Given the description of an element on the screen output the (x, y) to click on. 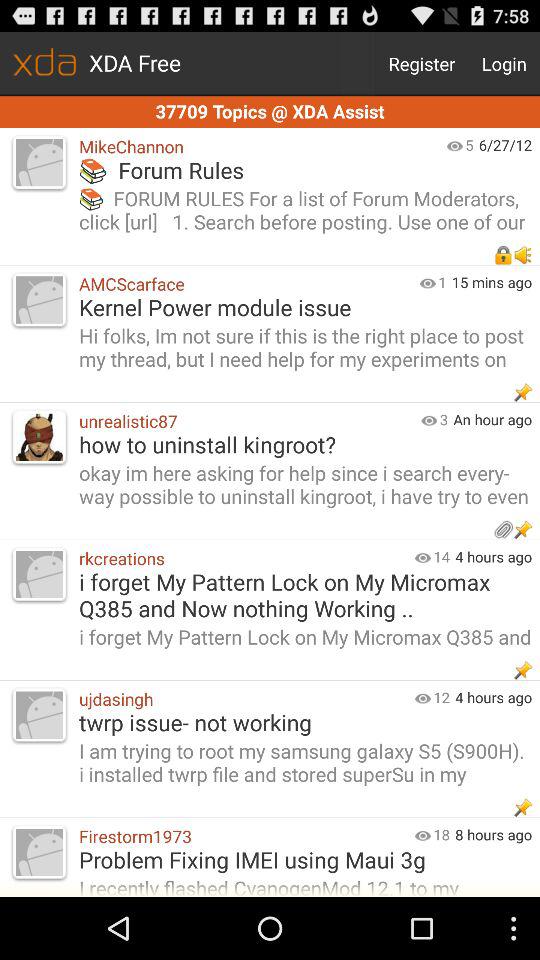
jump until the 6/27/12 app (509, 144)
